Given the description of an element on the screen output the (x, y) to click on. 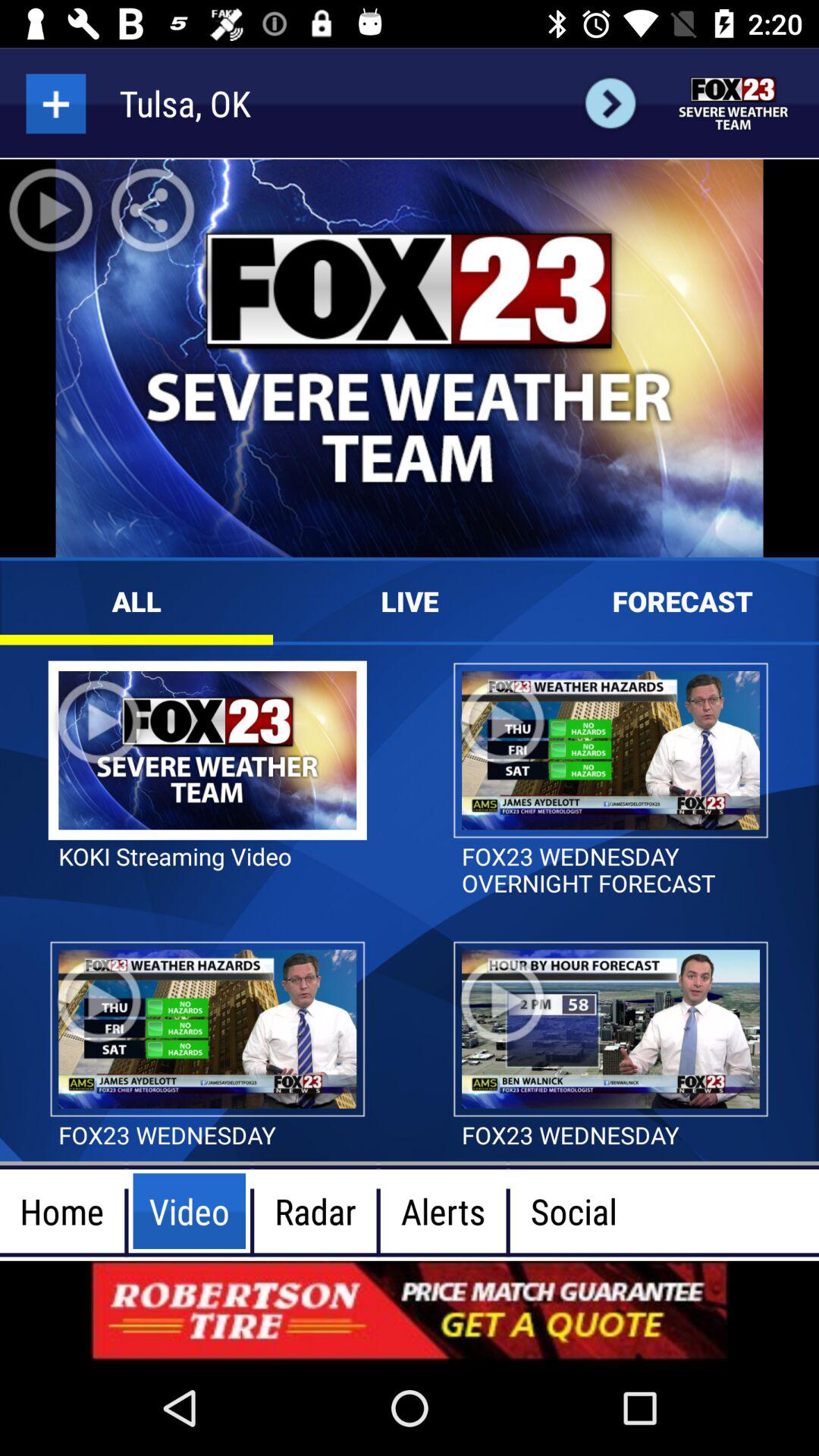
more (55, 103)
